Given the description of an element on the screen output the (x, y) to click on. 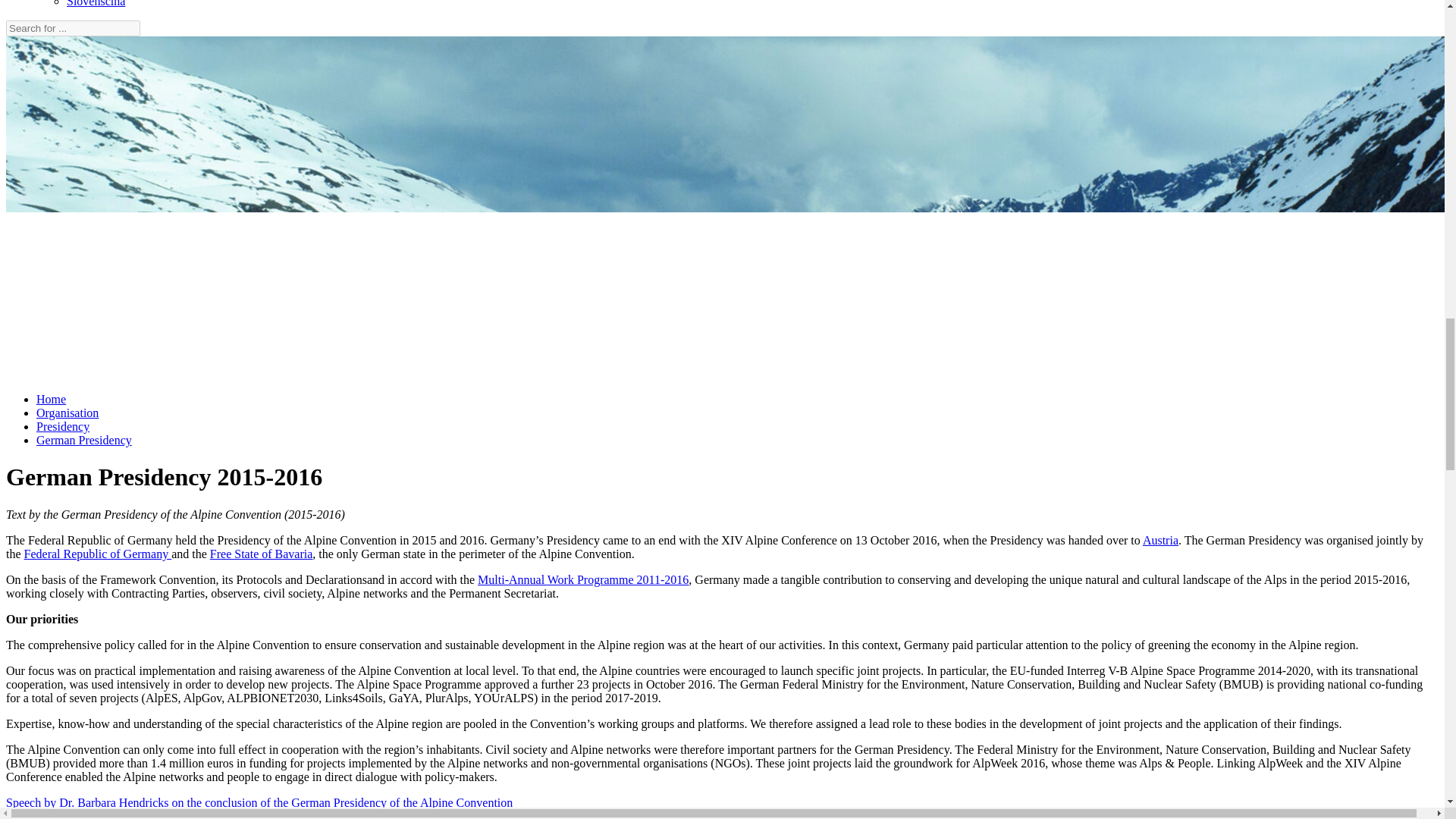
Presidency (62, 426)
German Presidency (84, 440)
Home (50, 399)
Organisation (67, 412)
